Given the description of an element on the screen output the (x, y) to click on. 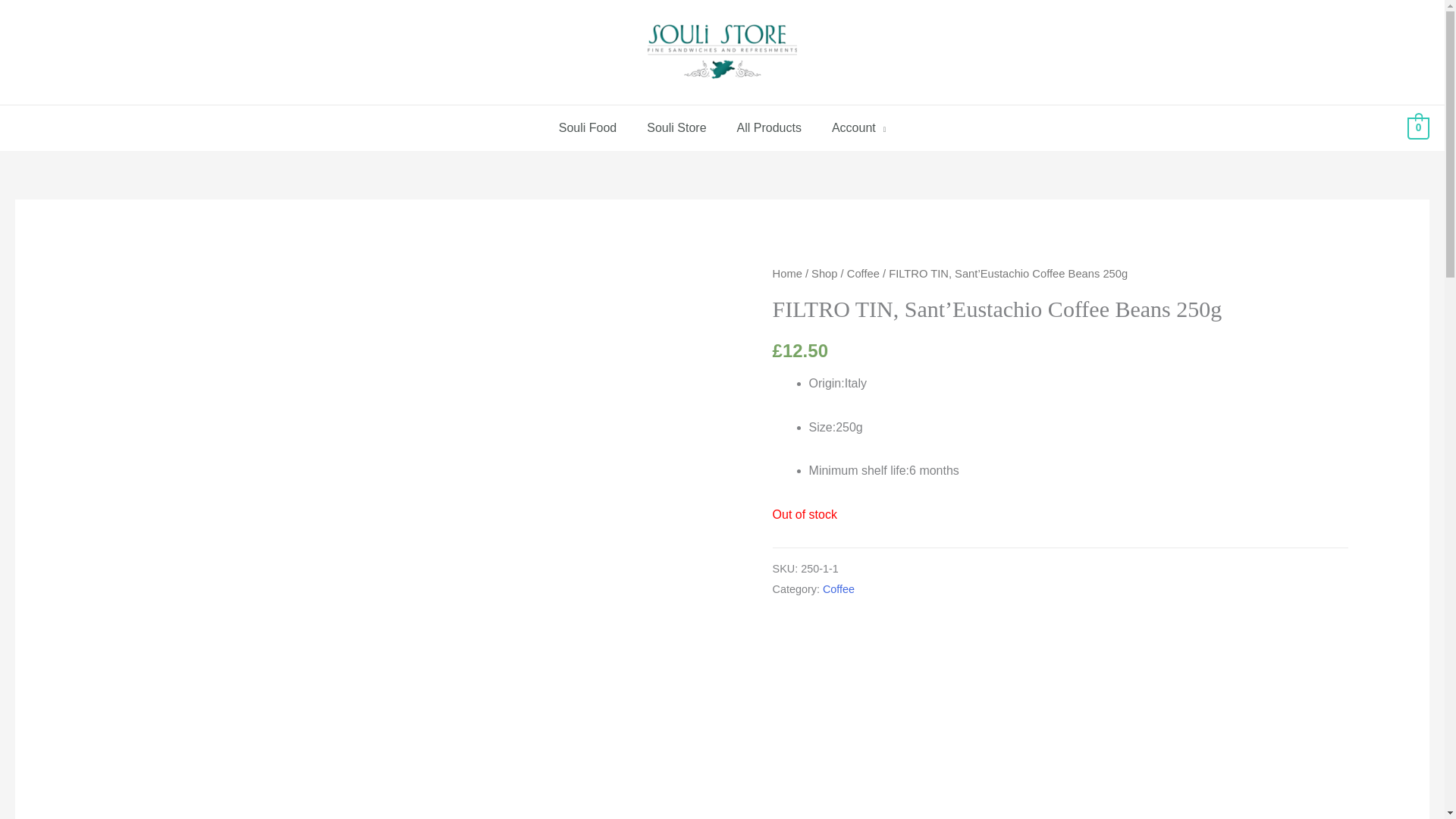
Shop (823, 273)
Home (787, 273)
0 (1418, 127)
Souli Food (587, 127)
Souli Store (675, 127)
Coffee (838, 589)
Coffee (863, 273)
View your shopping cart (1418, 127)
Account (858, 127)
All Products (769, 127)
